Given the description of an element on the screen output the (x, y) to click on. 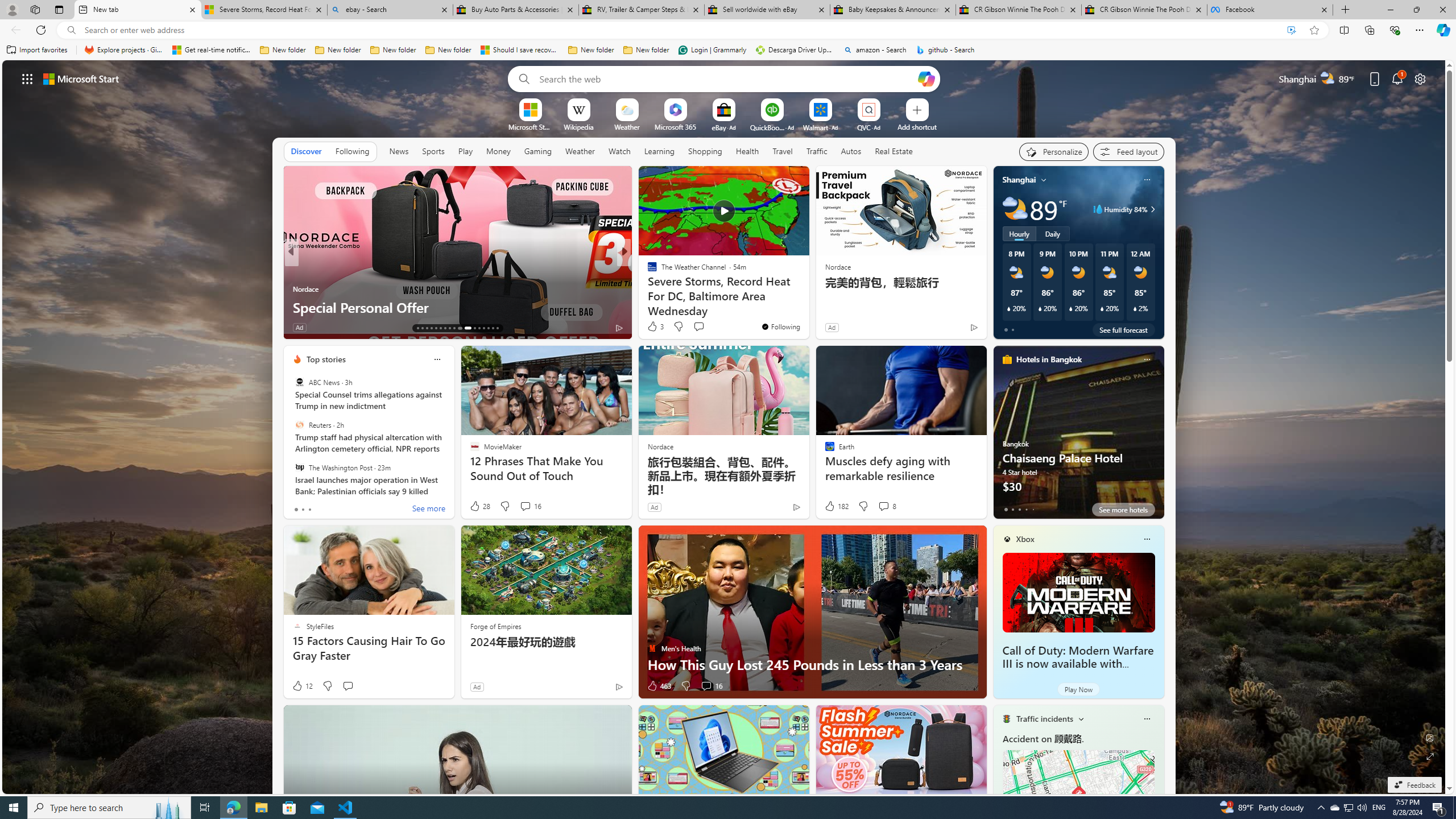
Personalize your feed" (1054, 151)
Reuters (299, 424)
AutomationID: tab-20 (449, 328)
Enhance video (1291, 29)
Settings and more (Alt+F) (1419, 29)
View comments 8 Comment (887, 505)
Traffic (816, 151)
AutomationID: tab-27 (488, 328)
Shopping (705, 151)
View comments 16 Comment (710, 685)
Enter your search term (726, 78)
